Given the description of an element on the screen output the (x, y) to click on. 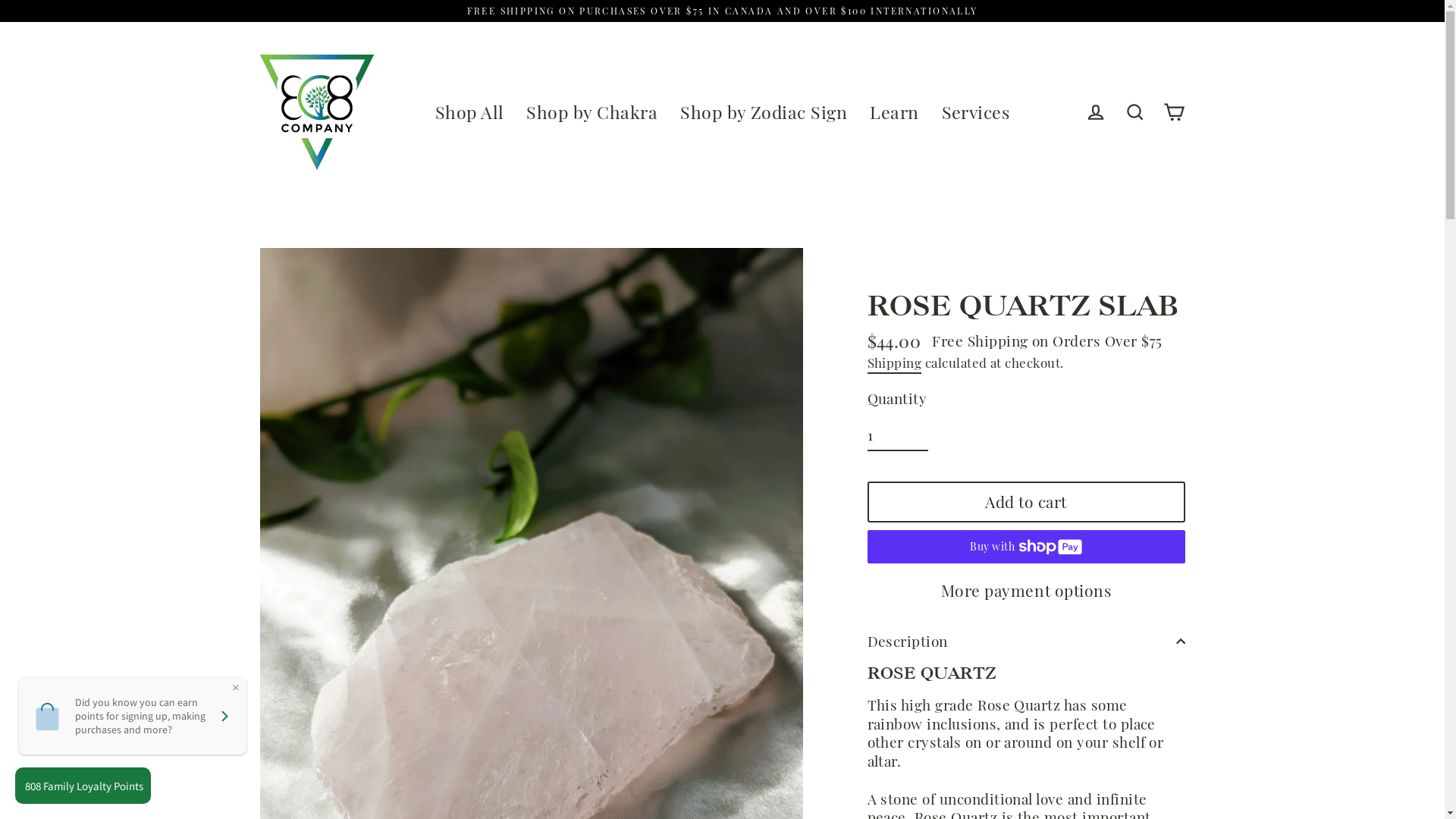
Add to cart Element type: text (1026, 501)
Learn Element type: text (893, 111)
Cart Element type: text (1173, 111)
Search Element type: text (1134, 111)
Shop All Element type: text (469, 111)
Shop by Zodiac Sign Element type: text (763, 111)
More payment options Element type: text (1026, 590)
Shipping Element type: text (894, 363)
Description Element type: text (1026, 640)
Shop by Chakra Element type: text (591, 111)
LoyaltyLion beacon Element type: hover (88, 785)
Services Element type: text (975, 111)
Log in Element type: text (1094, 111)
Skip to content Element type: text (0, 0)
